Given the description of an element on the screen output the (x, y) to click on. 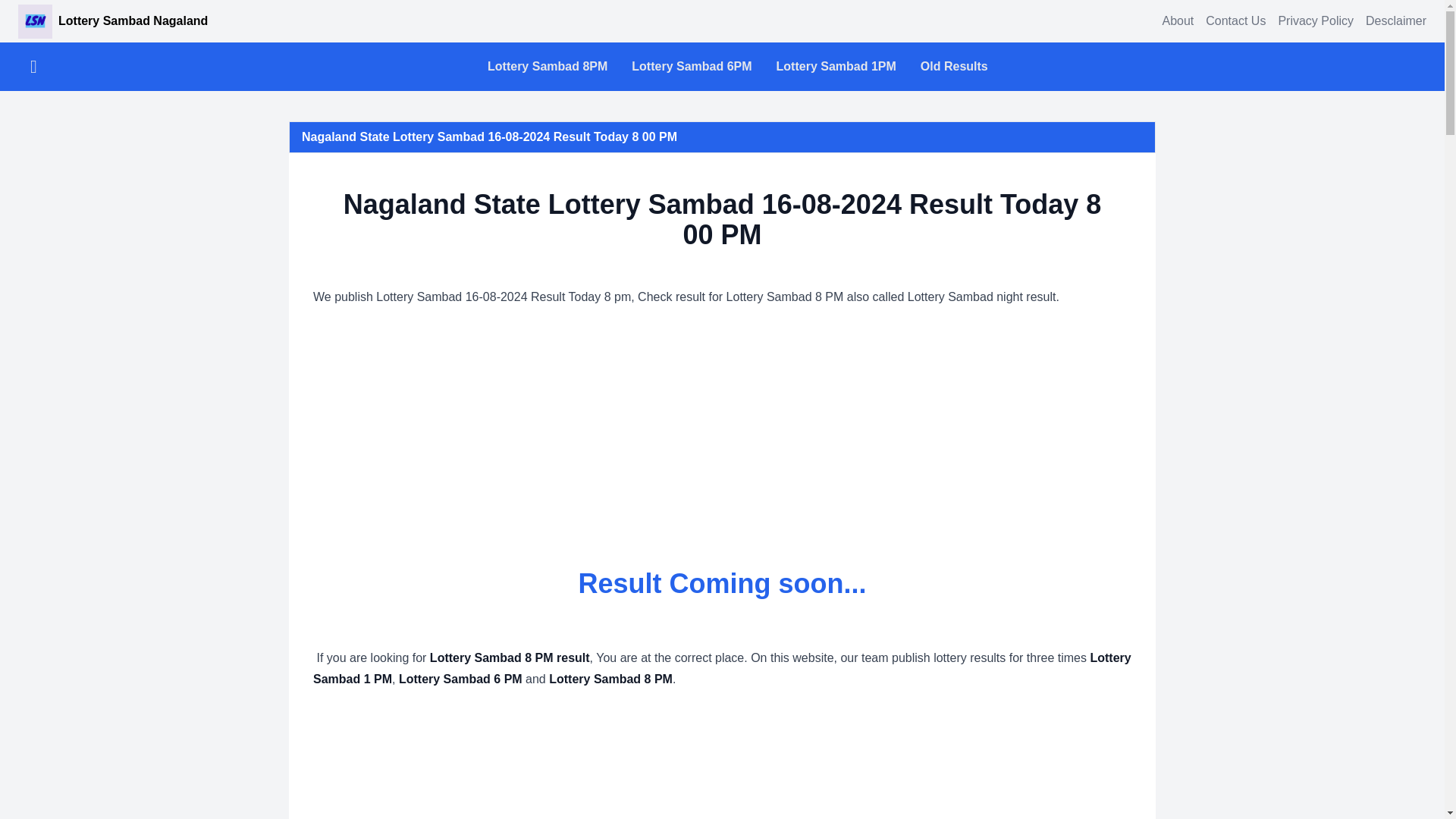
Lottery Sambad Nagaland (112, 21)
Desclaimer (1395, 20)
Advertisement (722, 762)
Lottery Sambad 6PM (691, 66)
Privacy Policy (1316, 20)
Lottery Sambad 1PM (836, 66)
Lottery Sambad 8PM (548, 66)
Old Results (954, 66)
About (1177, 20)
